Given the description of an element on the screen output the (x, y) to click on. 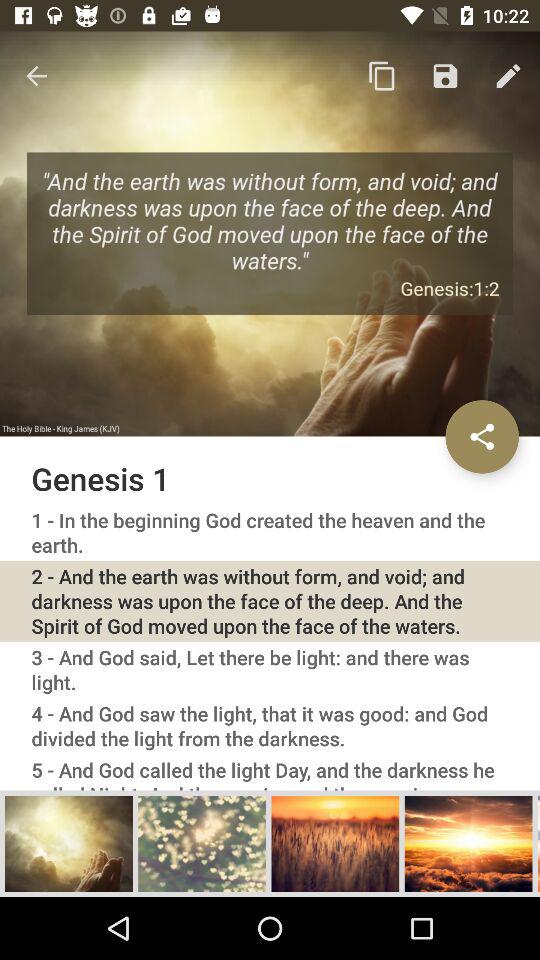
chapter selection (335, 843)
